Given the description of an element on the screen output the (x, y) to click on. 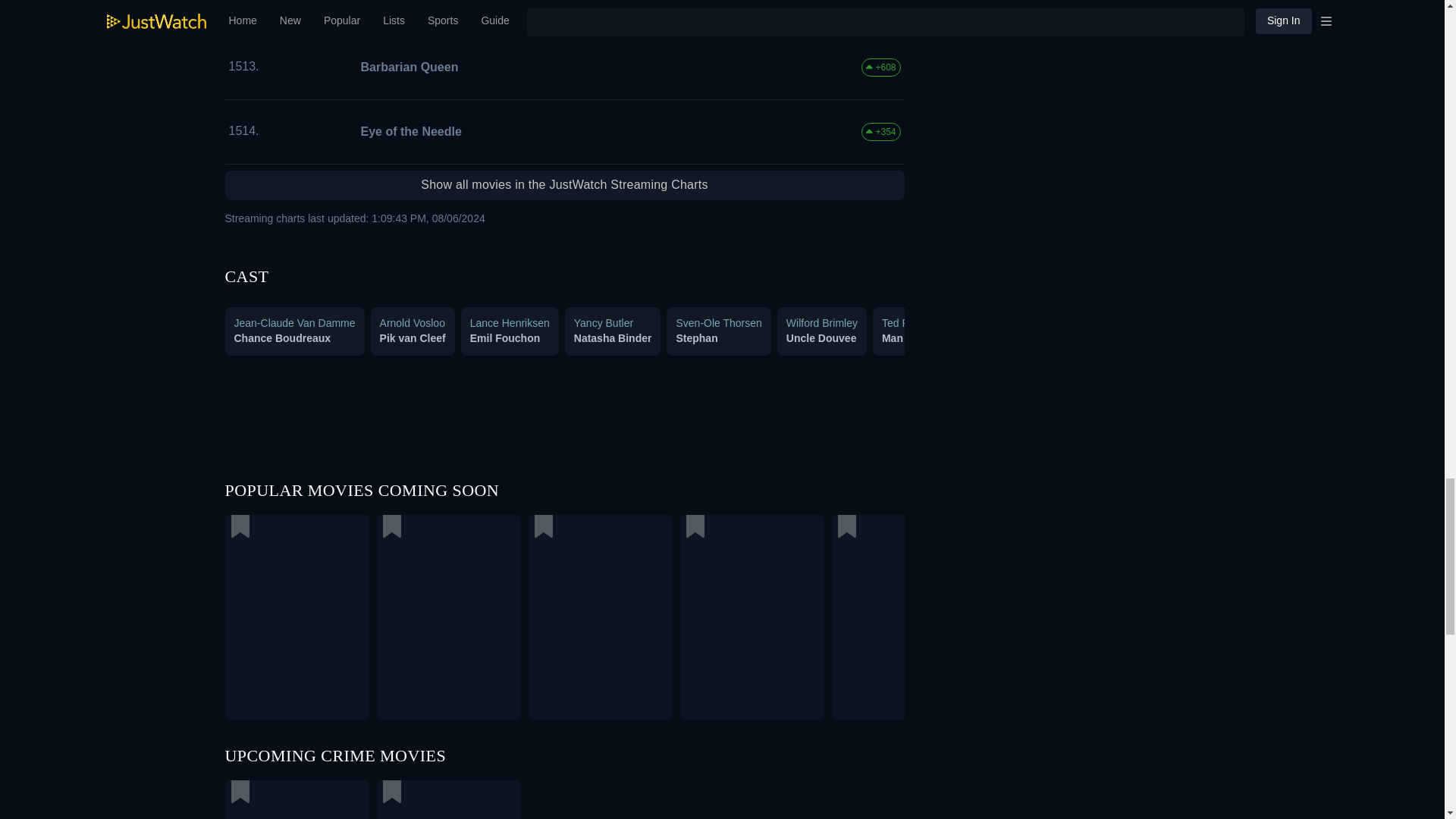
Eye of the Needle (408, 131)
Stephan (696, 337)
Chance Boudreaux (281, 337)
Rebel Ridge (374, 799)
Natasha Binder (612, 337)
Randal Poe (1254, 337)
Elijah Roper (1143, 337)
Man on the Street (926, 337)
Det. Marie Mitchell (1040, 337)
Night of the Bastard (416, 6)
